Given the description of an element on the screen output the (x, y) to click on. 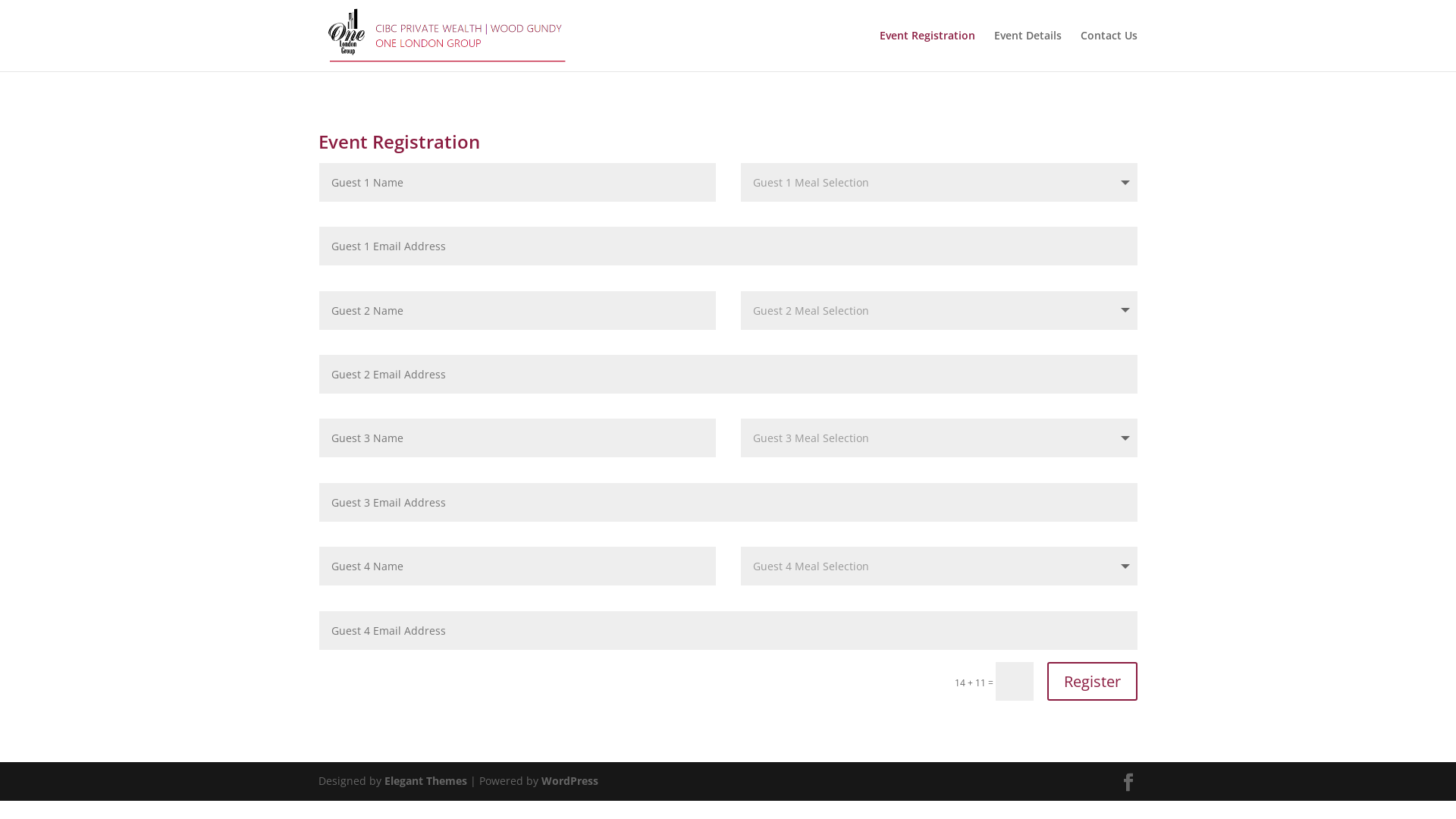
Event Details Element type: text (1027, 50)
Elegant Themes Element type: text (425, 780)
Contact Us Element type: text (1108, 50)
Event Registration Element type: text (927, 50)
WordPress Element type: text (569, 780)
Register Element type: text (1092, 681)
